Given the description of an element on the screen output the (x, y) to click on. 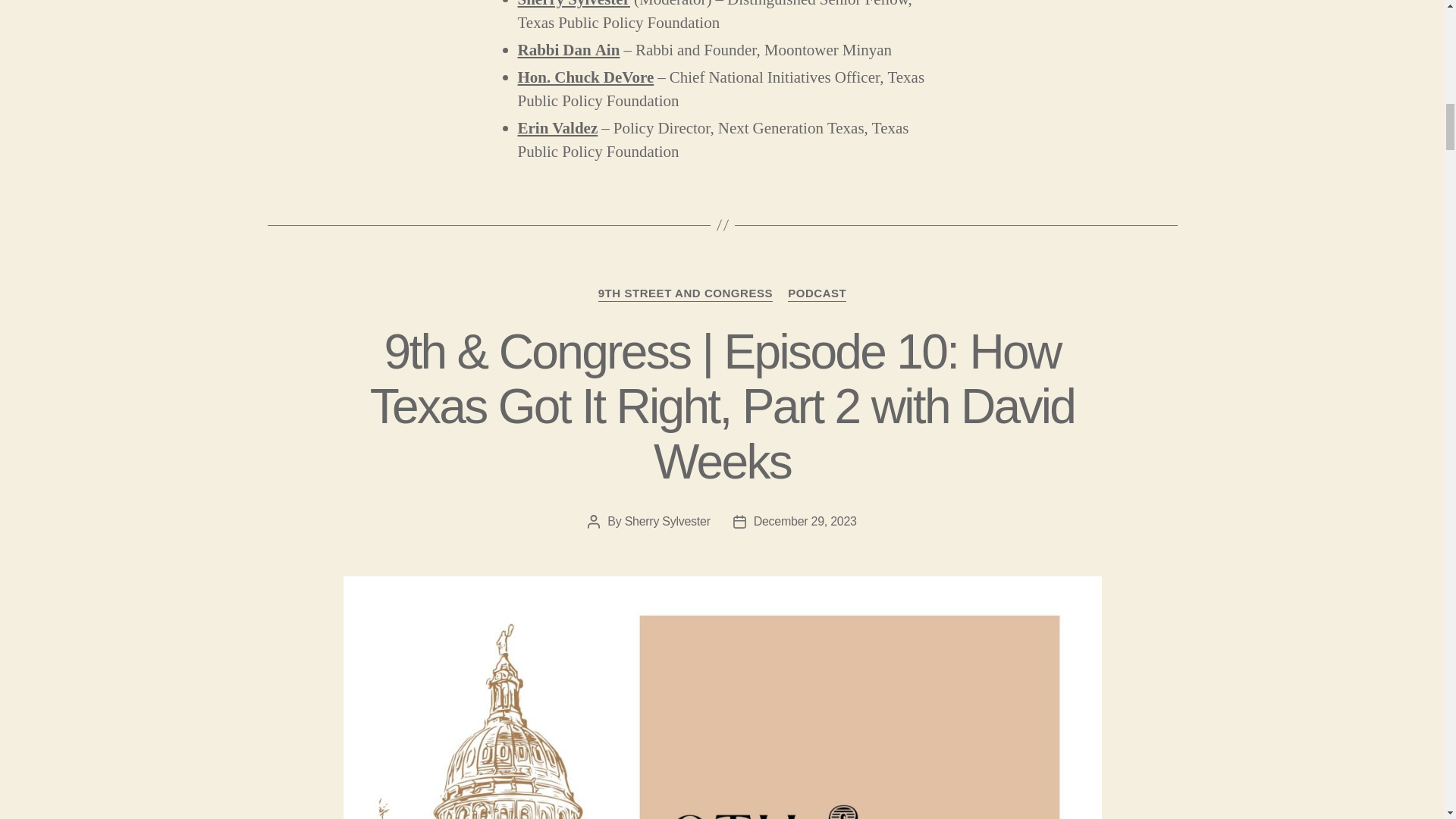
December 29, 2023 (805, 521)
PODCAST (816, 294)
9TH STREET AND CONGRESS (685, 294)
Rabbi Dan Ain (568, 50)
Erin Valdez (556, 127)
Hon. Chuck DeVore (584, 77)
Sherry Sylvester (667, 521)
Sherry Sylvester (572, 4)
